Given the description of an element on the screen output the (x, y) to click on. 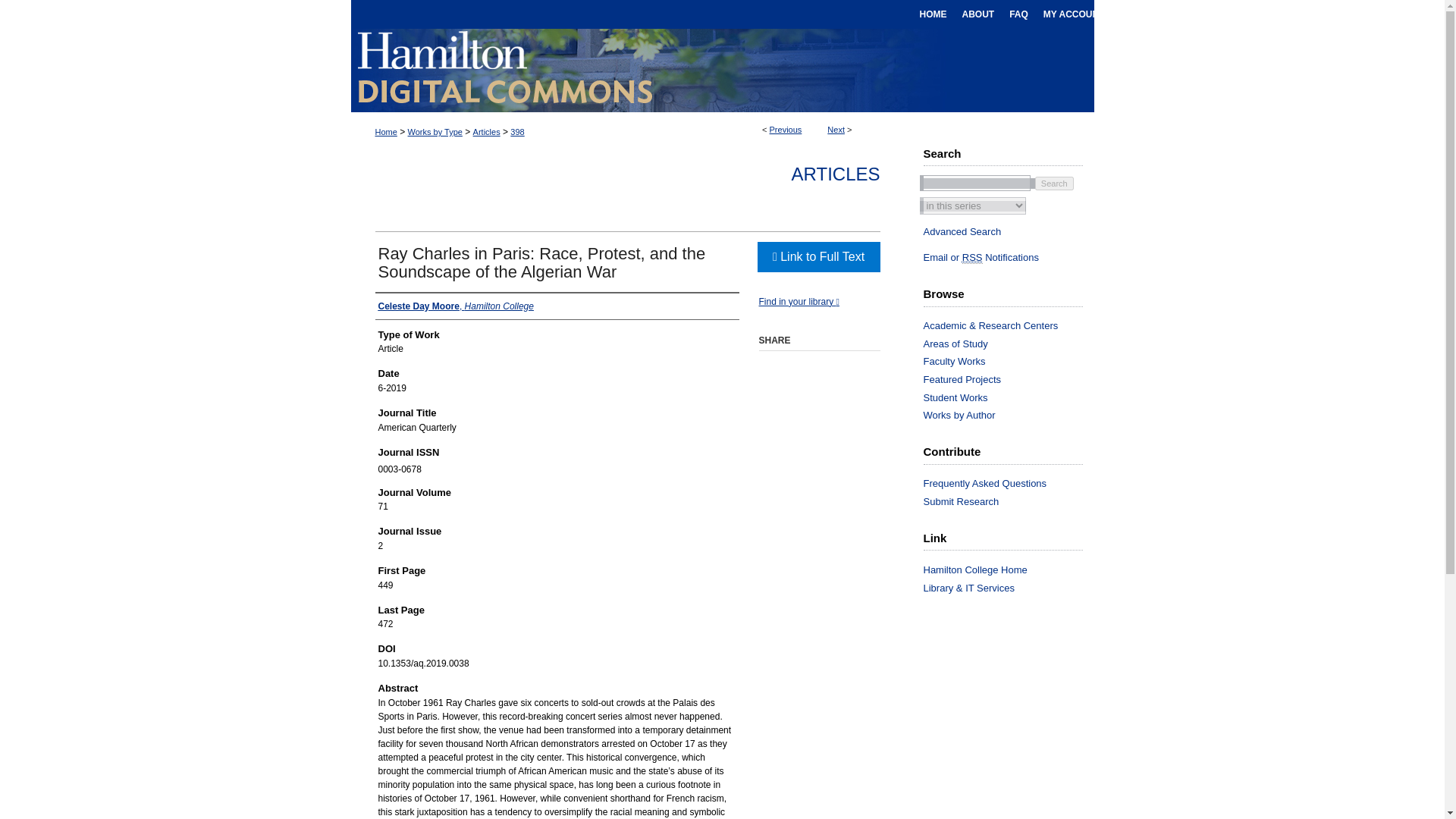
Email or RSS Notifications (1008, 257)
Home (932, 14)
FAQ (1018, 14)
Browse by Faculty Works (1008, 361)
Previous (786, 129)
About (977, 14)
Featured Projects (1008, 379)
ARTICLES (836, 173)
Student Works (1008, 398)
Search (1054, 182)
